Given the description of an element on the screen output the (x, y) to click on. 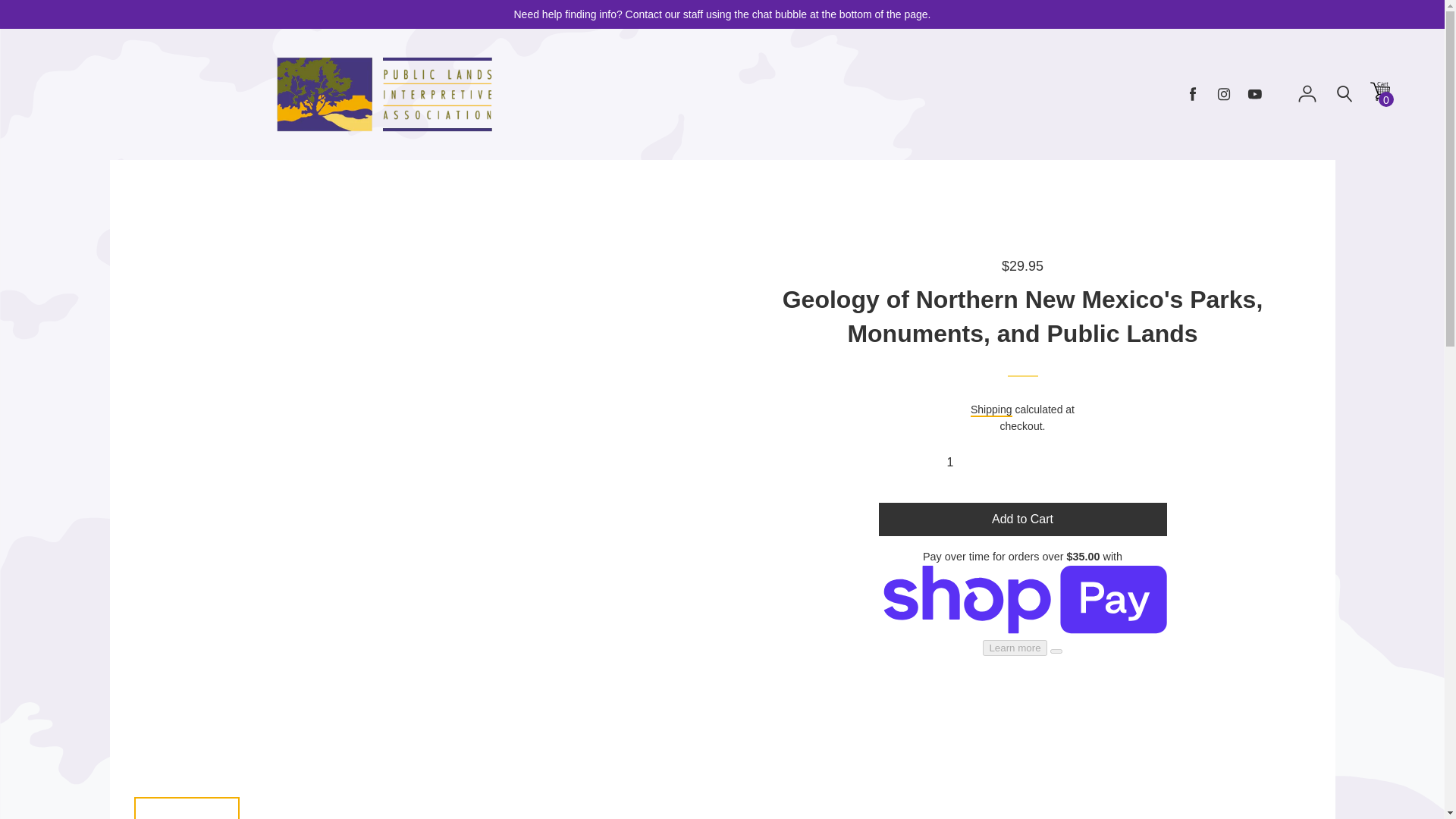
Public Lands Interpretive Association on YouTube (1254, 94)
Public Lands Interpretive Association on Facebook (1193, 94)
Public Lands Interpretive Association on Instagram (1223, 94)
1 (1021, 462)
